Given the description of an element on the screen output the (x, y) to click on. 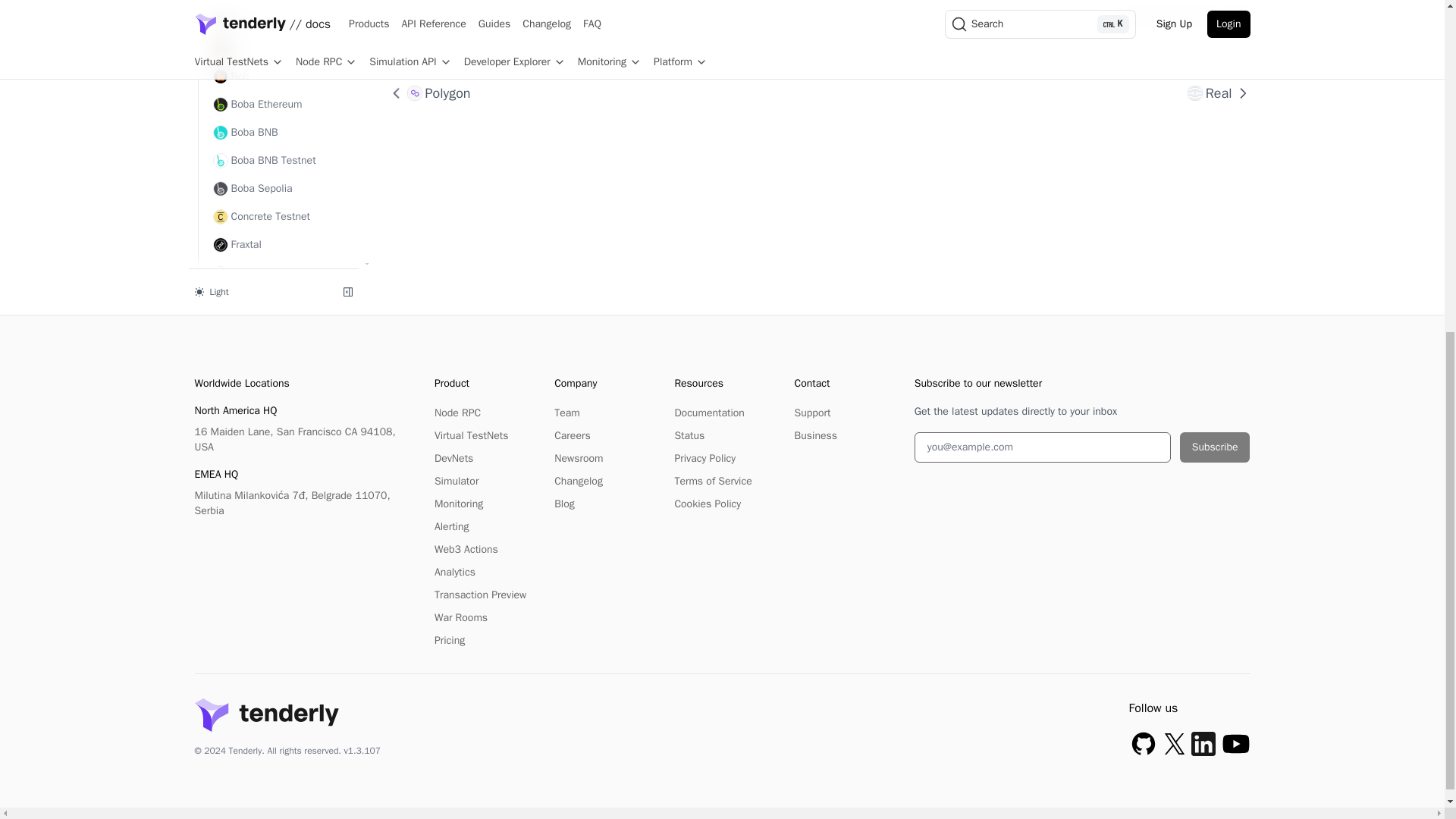
Concrete Testnet (278, 216)
Boba Sepolia (278, 188)
Boba Ethereum (278, 104)
Change theme (258, 218)
Base Sepolia (278, 2)
Bob (278, 48)
Boba BNB Testnet (278, 160)
Hide sidebar (347, 218)
Boba BNB (278, 131)
Fraxtal (278, 244)
